Given the description of an element on the screen output the (x, y) to click on. 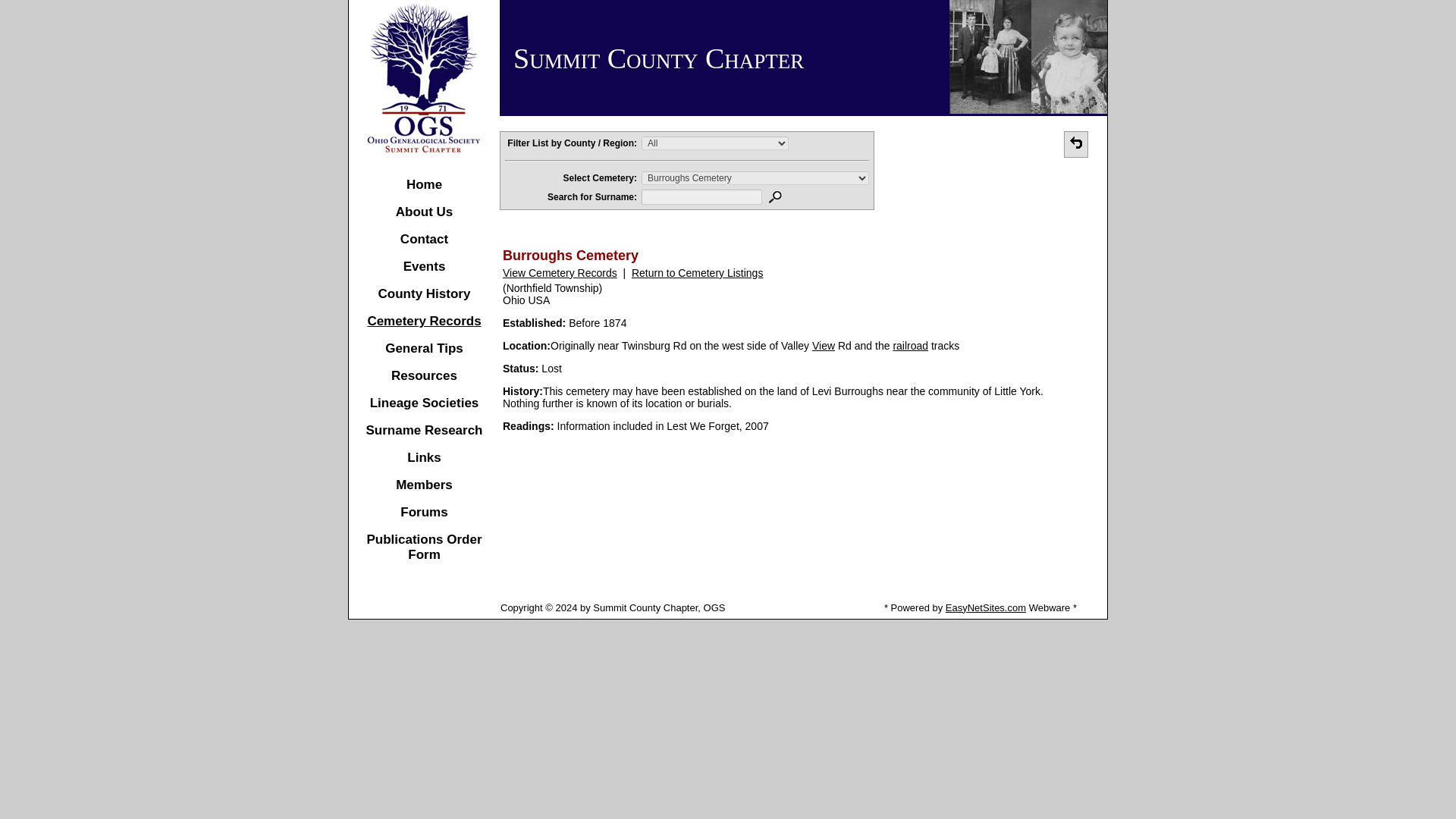
Members (424, 484)
Surname Research (423, 430)
EasyNetSites.com (985, 607)
Resources (424, 375)
Return to Cemeteries (1075, 142)
View Cemetery Records (559, 272)
Publications Order Form (423, 546)
Lineage Societies (424, 402)
Contact (424, 238)
County History (424, 293)
View (823, 345)
Events (424, 266)
Home (424, 184)
Summit County Chapter, Ohio Genealogical Society (424, 81)
